Given the description of an element on the screen output the (x, y) to click on. 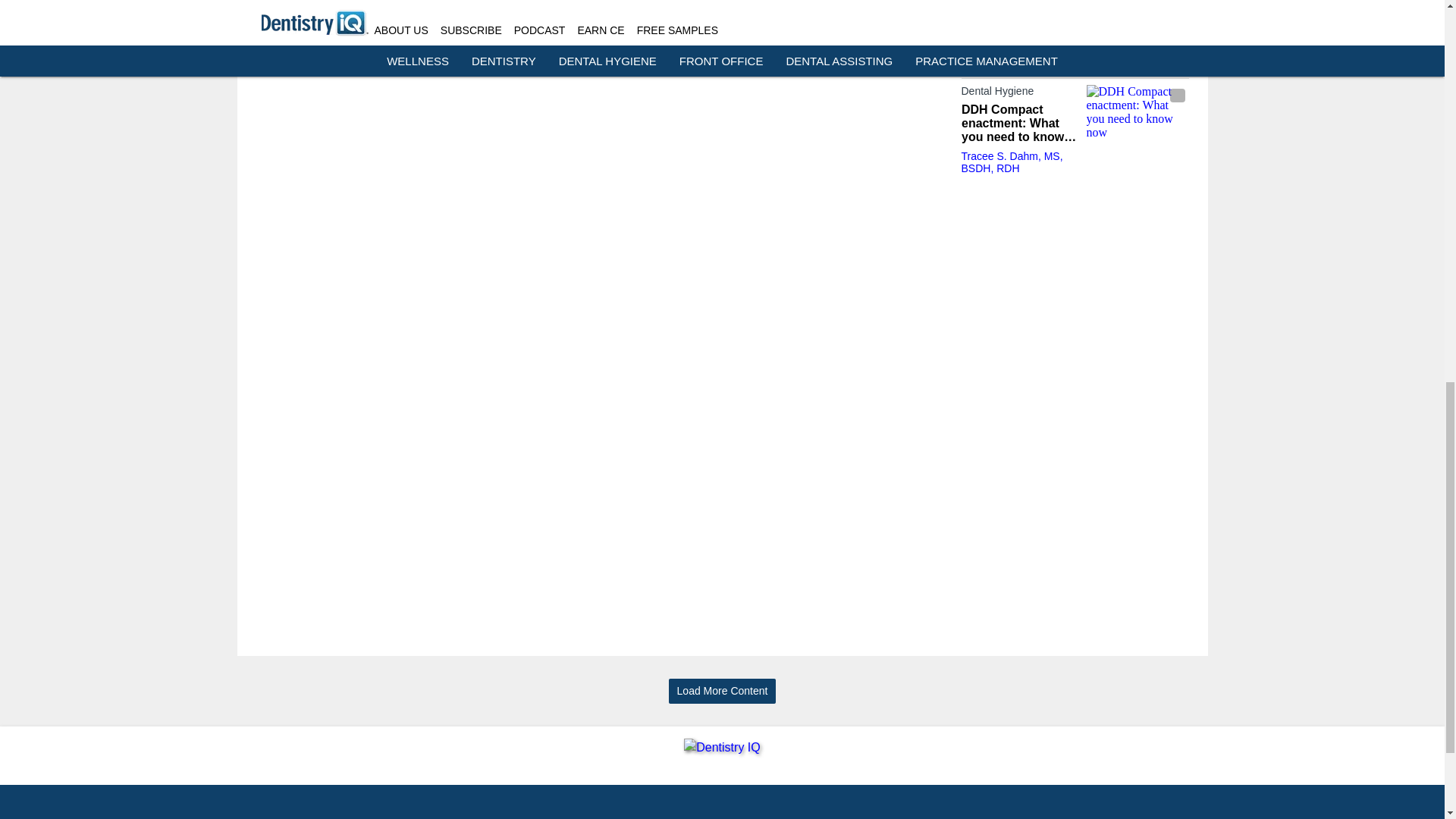
DDH Compact enactment: What you need to know now (1137, 113)
